Given the description of an element on the screen output the (x, y) to click on. 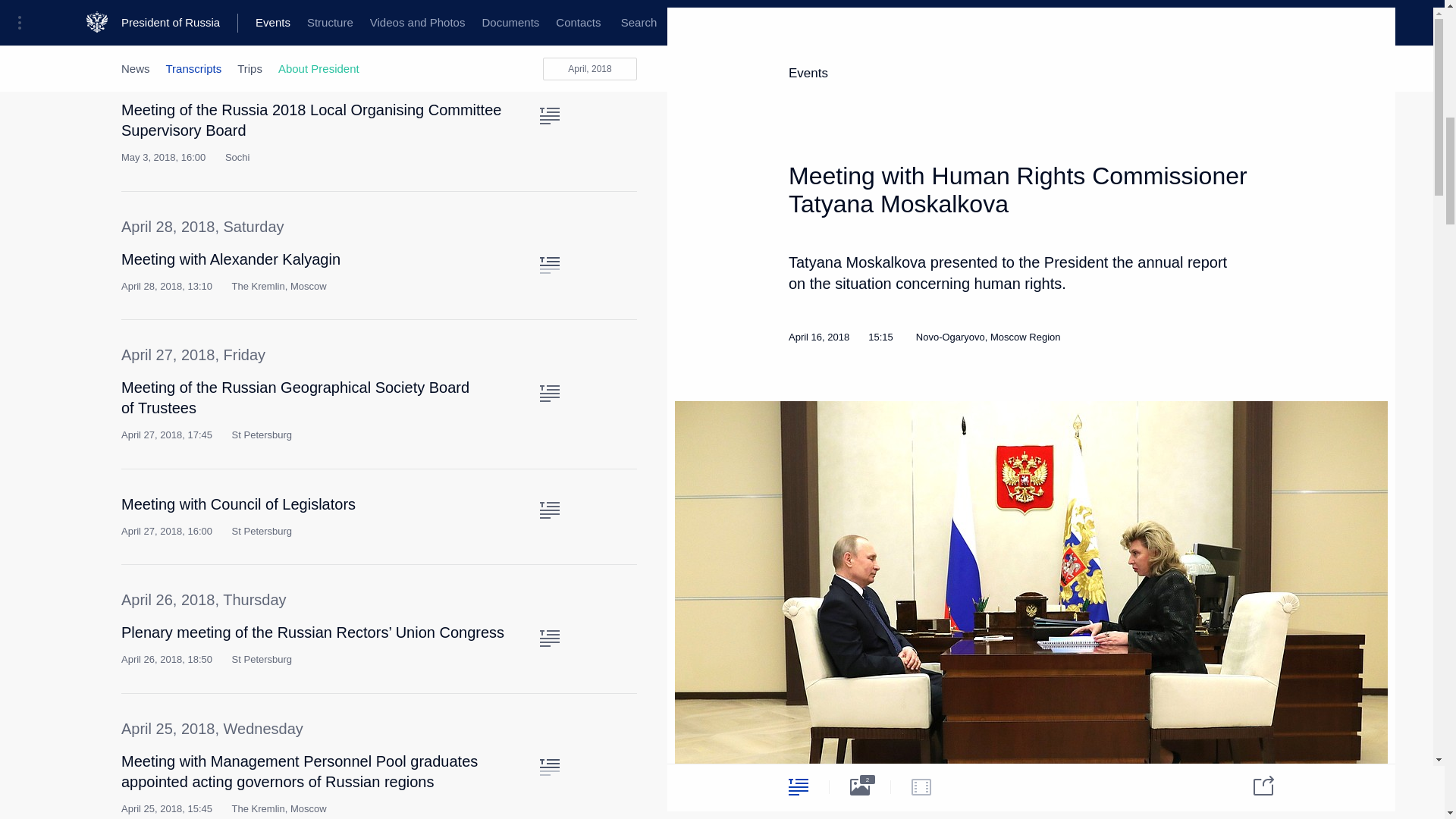
Text of the article (549, 638)
Text of the article (549, 115)
Text of the article (549, 20)
Text of the article (549, 393)
Text of the article (549, 265)
Text of the article (549, 510)
Text of the article (549, 767)
